Given the description of an element on the screen output the (x, y) to click on. 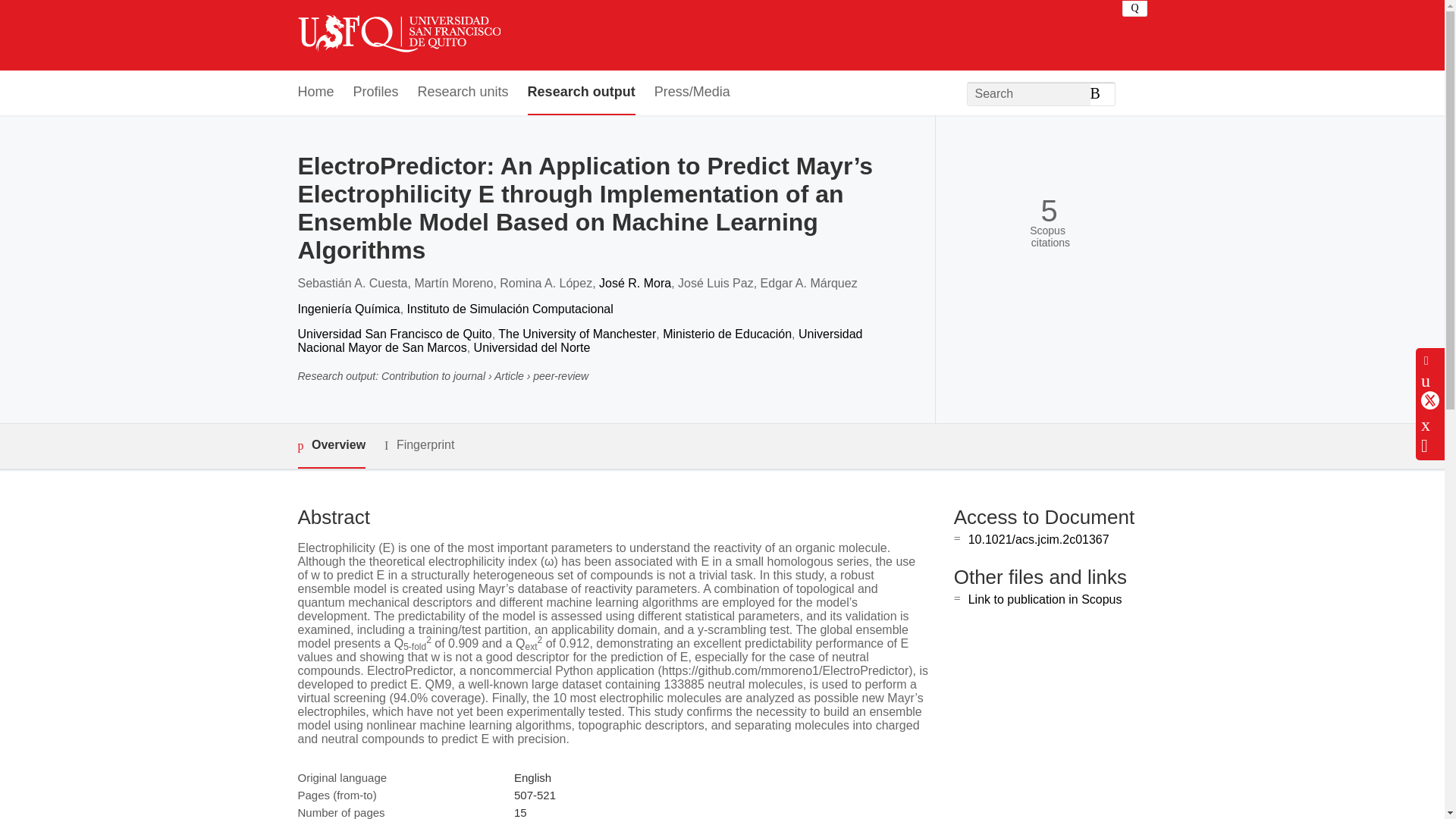
Profiles (375, 92)
Research units (462, 92)
Universidad del Norte (532, 347)
Universidad San Francisco de Quito (394, 333)
Universidad San Francisco de Quito USFQ Home (398, 35)
Link to publication in Scopus (1045, 599)
The University of Manchester (576, 333)
Overview (331, 446)
Research output (580, 92)
